Given the description of an element on the screen output the (x, y) to click on. 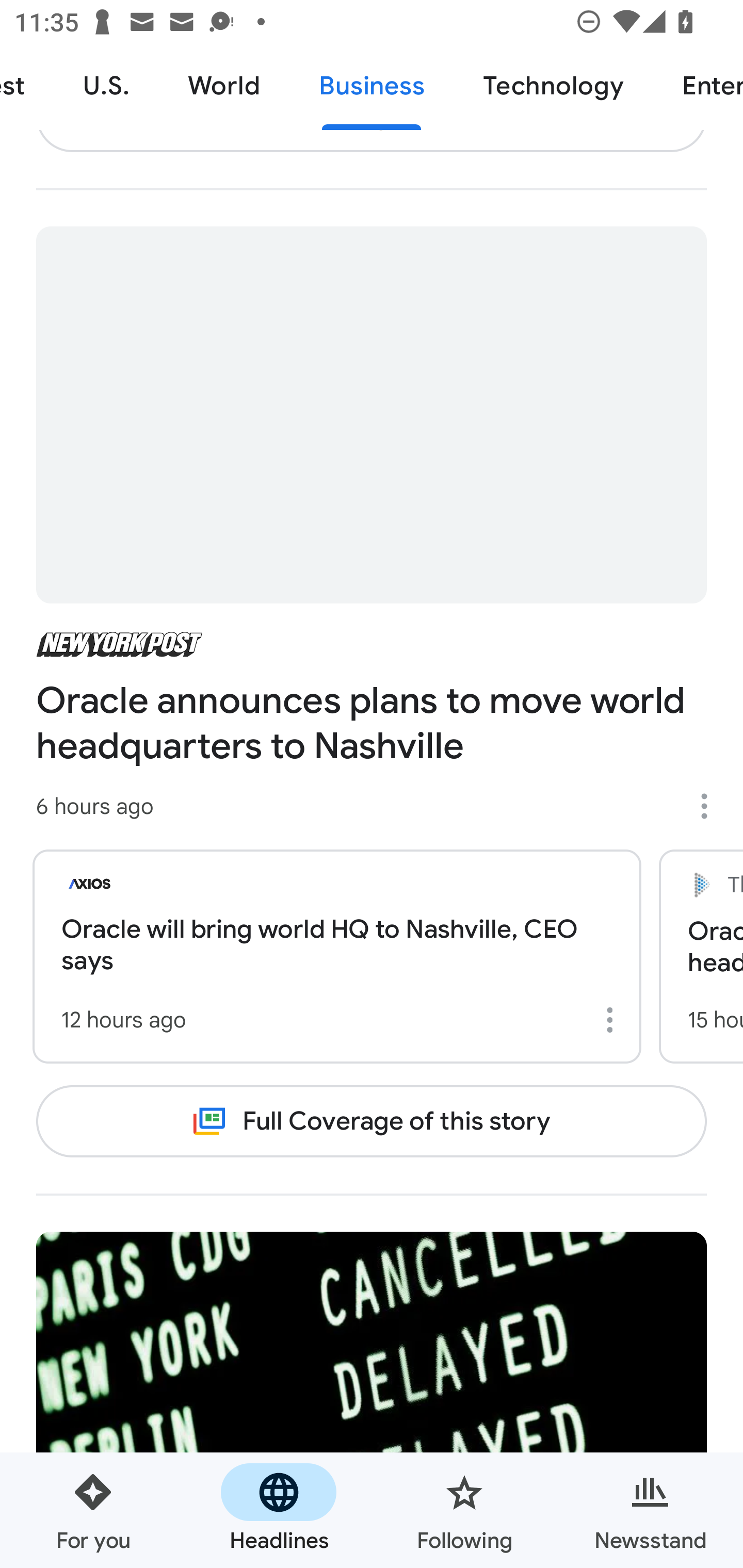
U.S. (106, 86)
World (224, 86)
Technology (552, 86)
More options (711, 805)
More options (613, 1019)
Full Coverage of this story (371, 1121)
For you (92, 1509)
Headlines (278, 1509)
Following (464, 1509)
Newsstand (650, 1509)
